Given the description of an element on the screen output the (x, y) to click on. 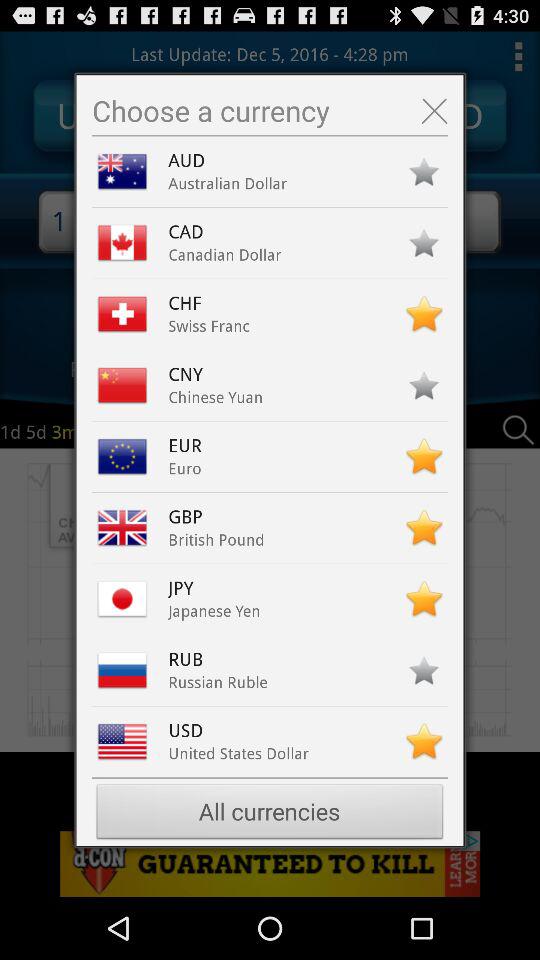
open gbp (189, 517)
